Given the description of an element on the screen output the (x, y) to click on. 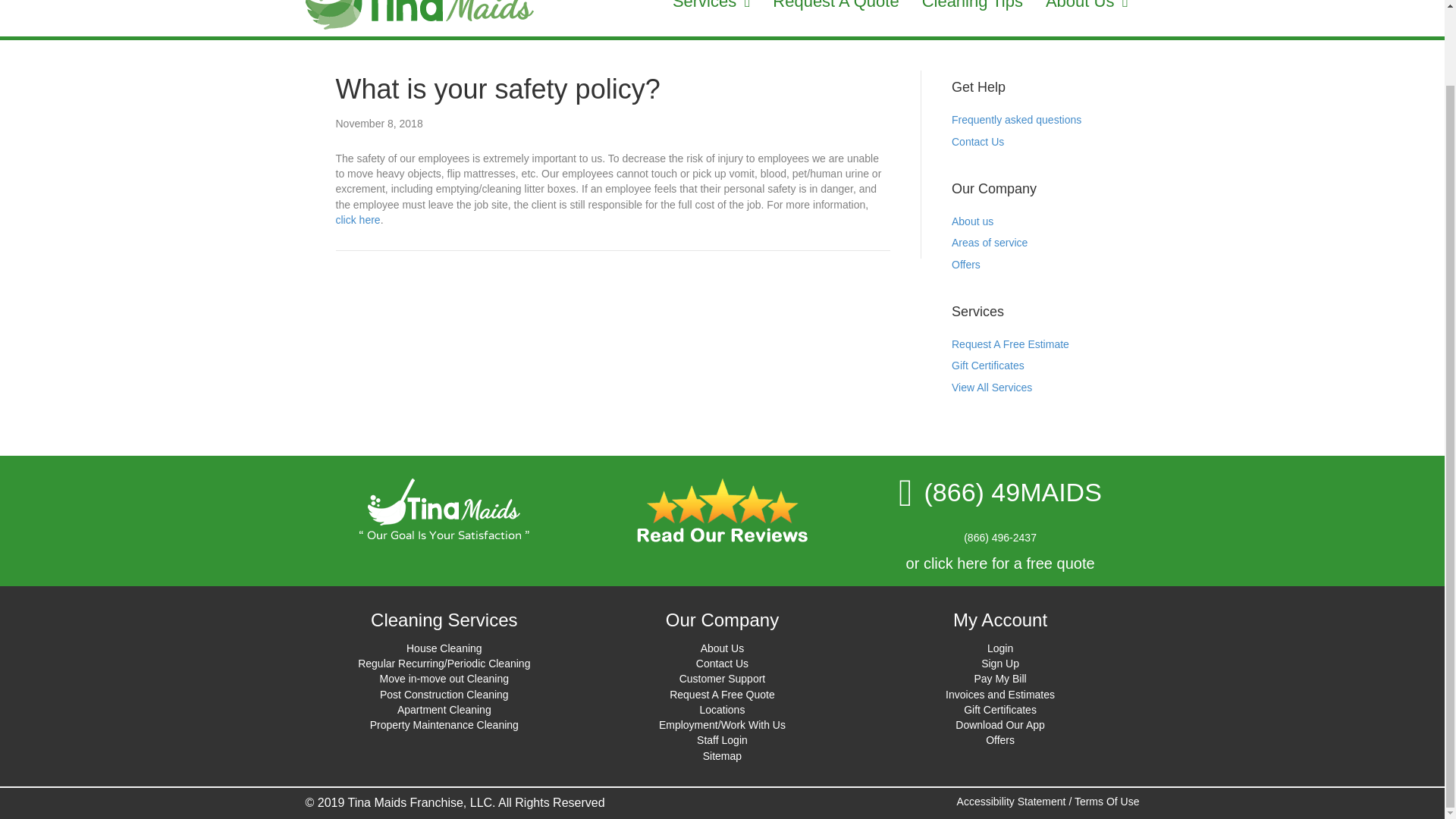
Cleaning Tips (972, 8)
logo (418, 18)
bottom-logo (444, 508)
Services (711, 8)
our-reviews (722, 510)
About Us (1086, 8)
Request A Quote (835, 8)
